Given the description of an element on the screen output the (x, y) to click on. 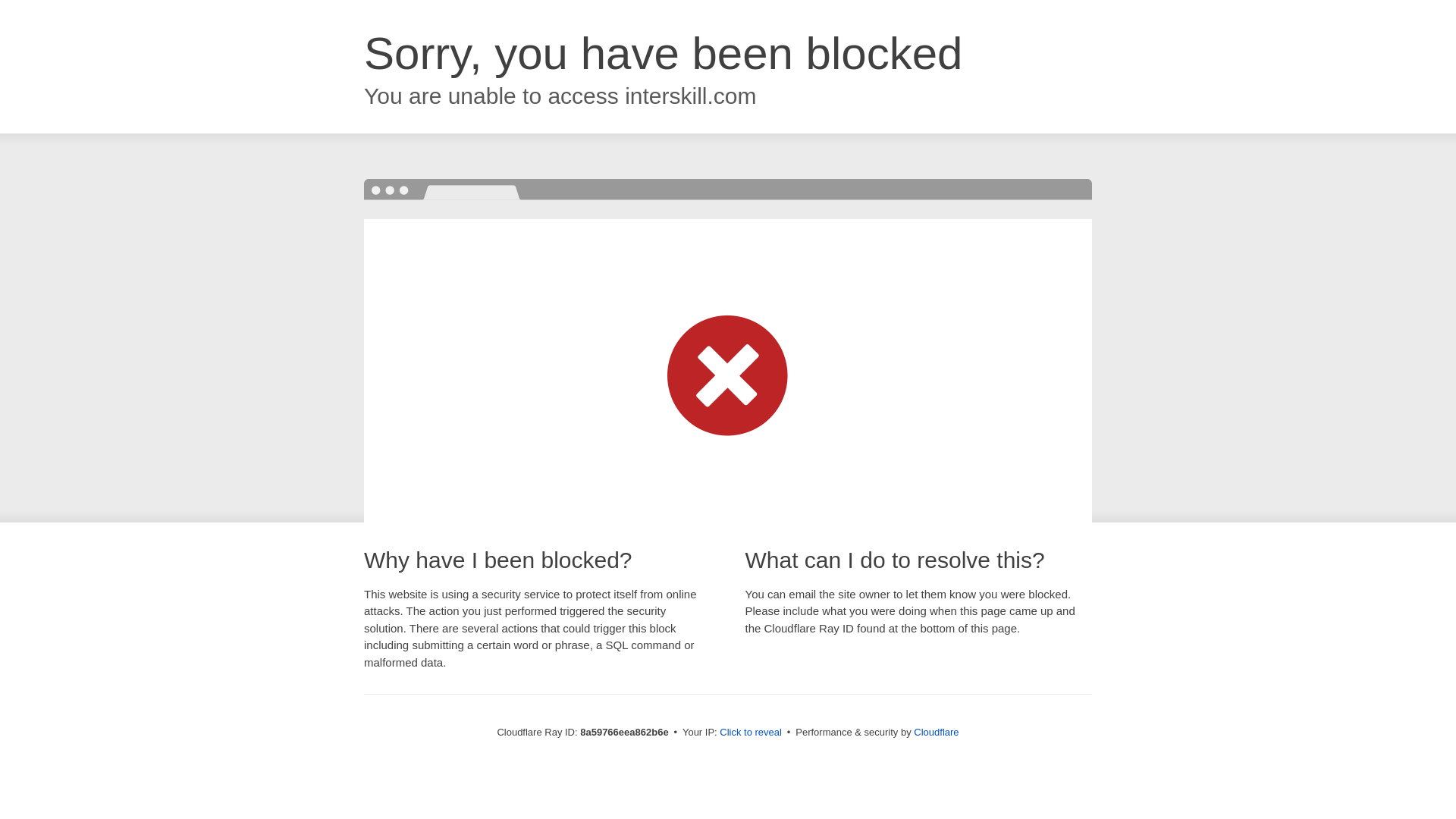
Click to reveal (750, 732)
Cloudflare (936, 731)
